Given the description of an element on the screen output the (x, y) to click on. 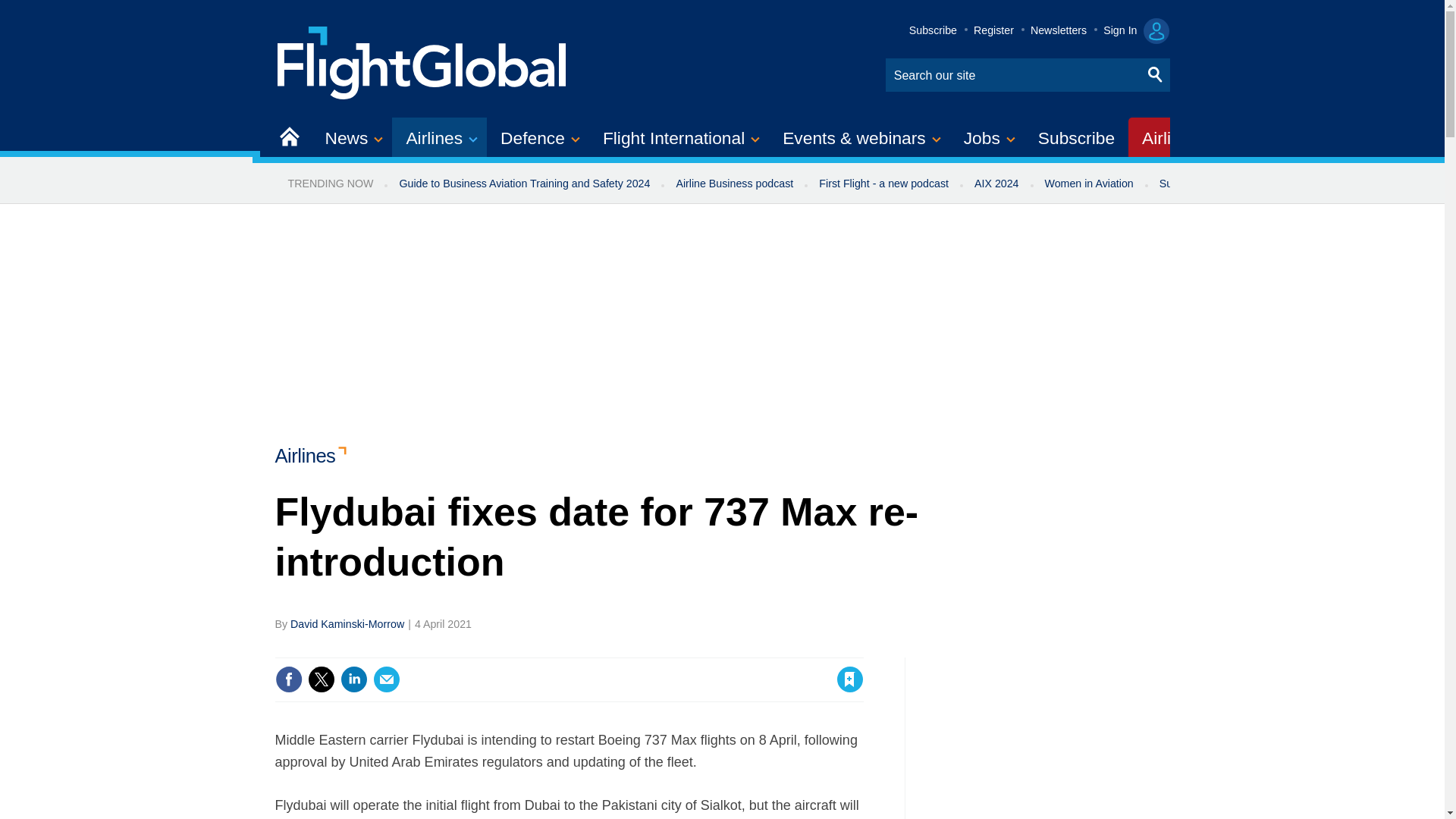
Women in Aviation (1089, 183)
Share this on Facebook (288, 678)
Email this article (386, 678)
Share this on Linked in (352, 678)
AIX 2024 (996, 183)
Share this on Twitter (320, 678)
Sustainable Aviation newsletter (1234, 183)
Airline Business podcast (734, 183)
First Flight - a new podcast (883, 183)
Guide to Business Aviation Training and Safety 2024 (523, 183)
